Given the description of an element on the screen output the (x, y) to click on. 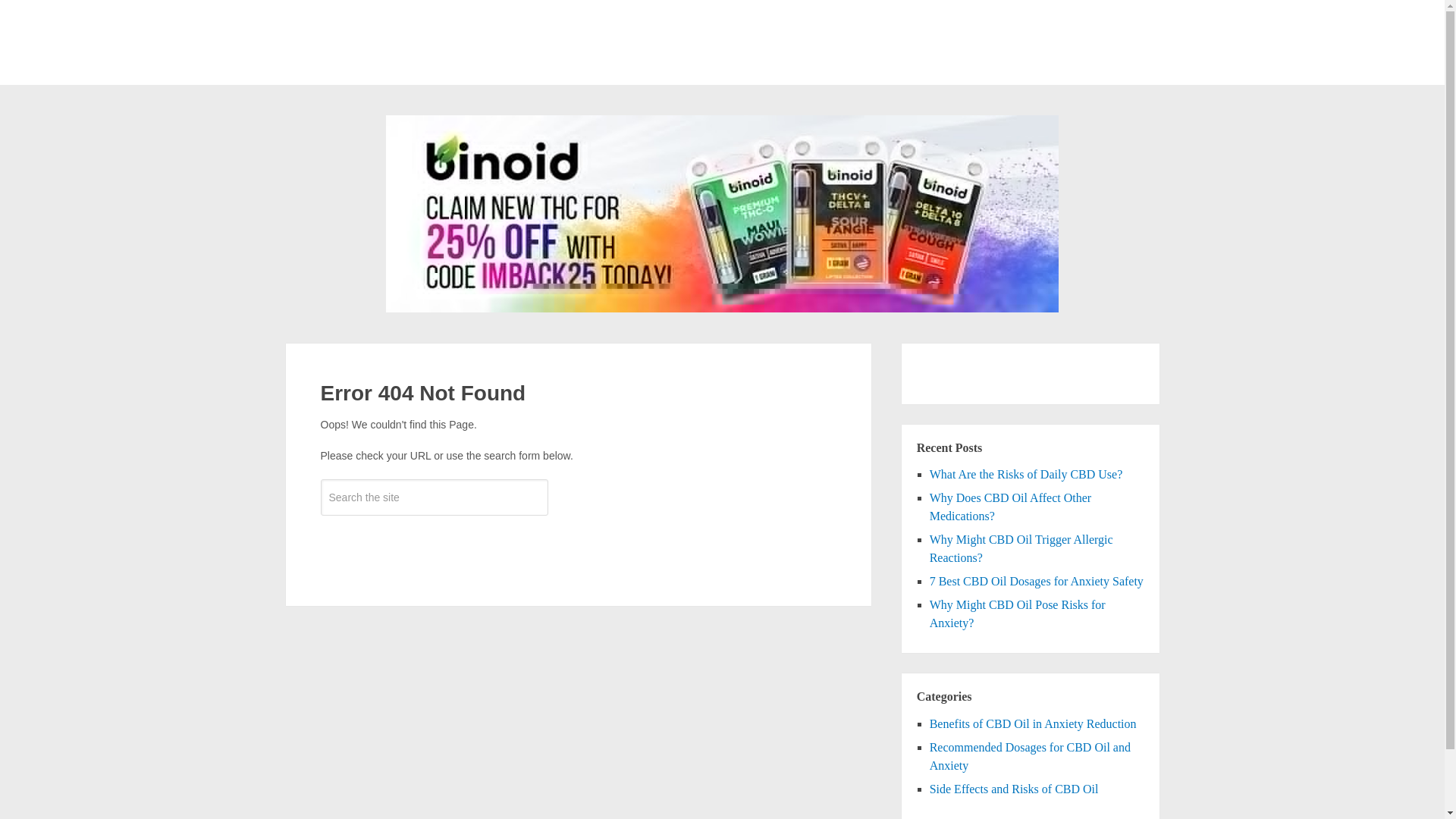
Why Might CBD Oil Pose Risks for Anxiety? (1017, 613)
Why Might CBD Oil Trigger Allergic Reactions? (1021, 548)
Side Effects and Risks of CBD Oil (1014, 788)
Benefits of CBD Oil in Anxiety Reduction (1033, 723)
7 Best CBD Oil Dosages for Anxiety Safety (1036, 581)
Why Does CBD Oil Affect Other Medications? (1010, 506)
Search (433, 541)
What Are the Risks of Daily CBD Use? (1026, 473)
Recommended Dosages for CBD Oil and Anxiety (1030, 756)
CBD OIL FOR ANXIETY (399, 56)
